Given the description of an element on the screen output the (x, y) to click on. 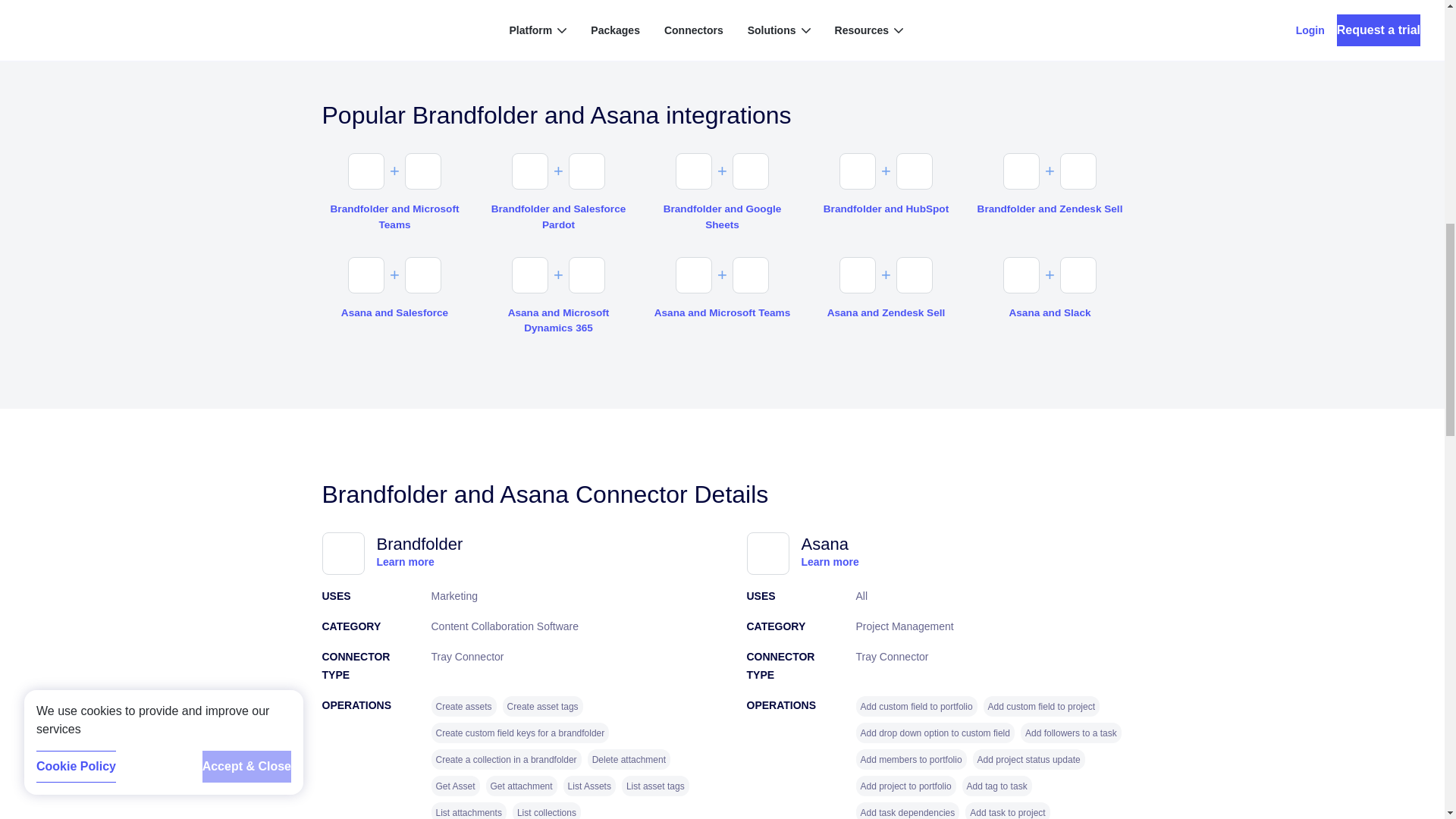
Brandfolder and HubSpot (885, 209)
Asana and Zendesk Sell (885, 313)
Brandfolder and Google Sheets (721, 216)
Learn more (829, 562)
Asana and Slack (1049, 313)
Brandfolder and Microsoft Teams (394, 216)
Brandfolder and Salesforce Pardot (557, 216)
Brandfolder and Zendesk Sell (1049, 209)
Asana and Microsoft Teams (721, 313)
Asana and Salesforce (394, 313)
